Given the description of an element on the screen output the (x, y) to click on. 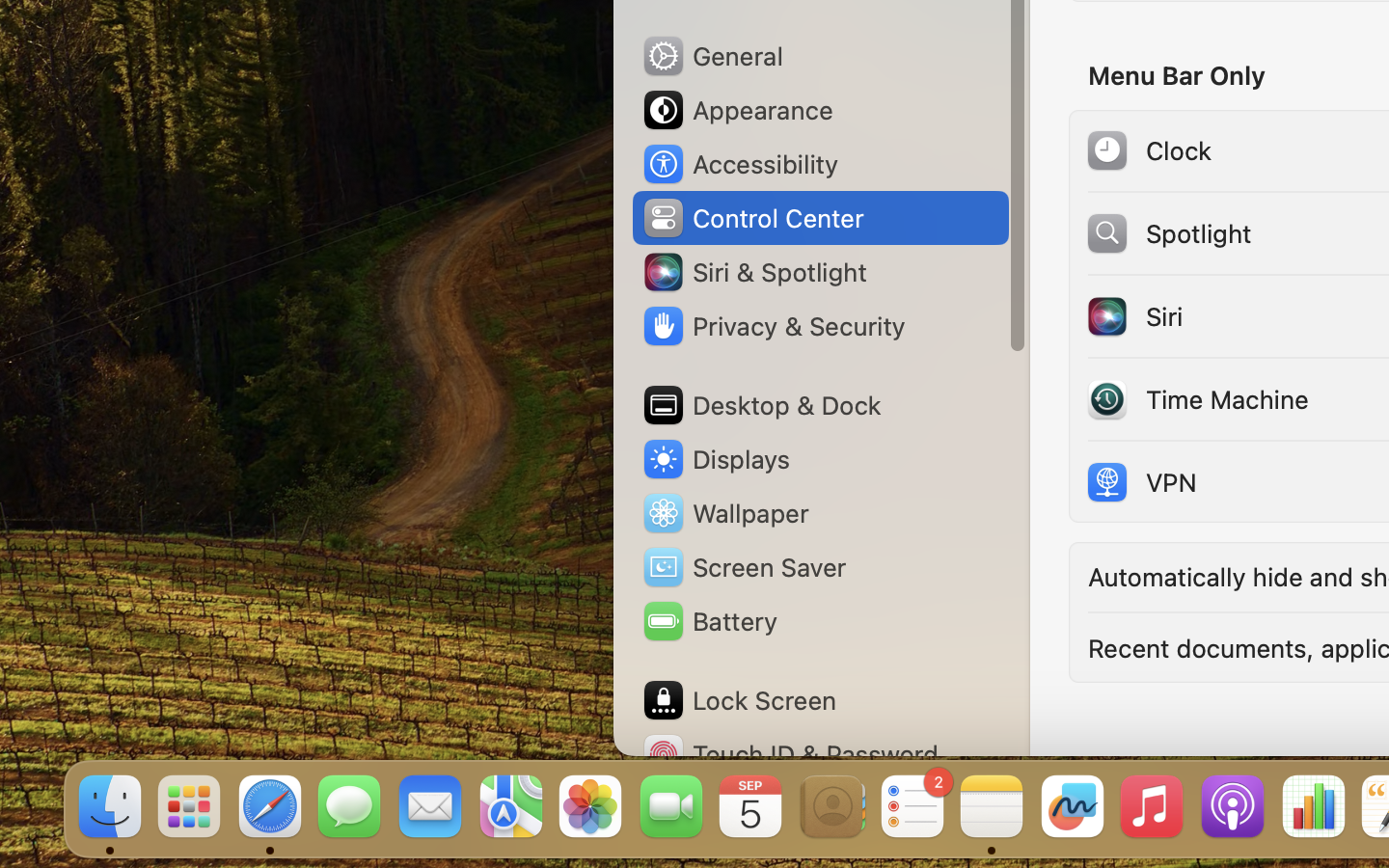
Desktop & Dock Element type: AXStaticText (760, 404)
General Element type: AXStaticText (711, 55)
Control Center Element type: AXStaticText (752, 217)
Spotlight Element type: AXStaticText (1168, 233)
Time Machine Element type: AXStaticText (1195, 399)
